Given the description of an element on the screen output the (x, y) to click on. 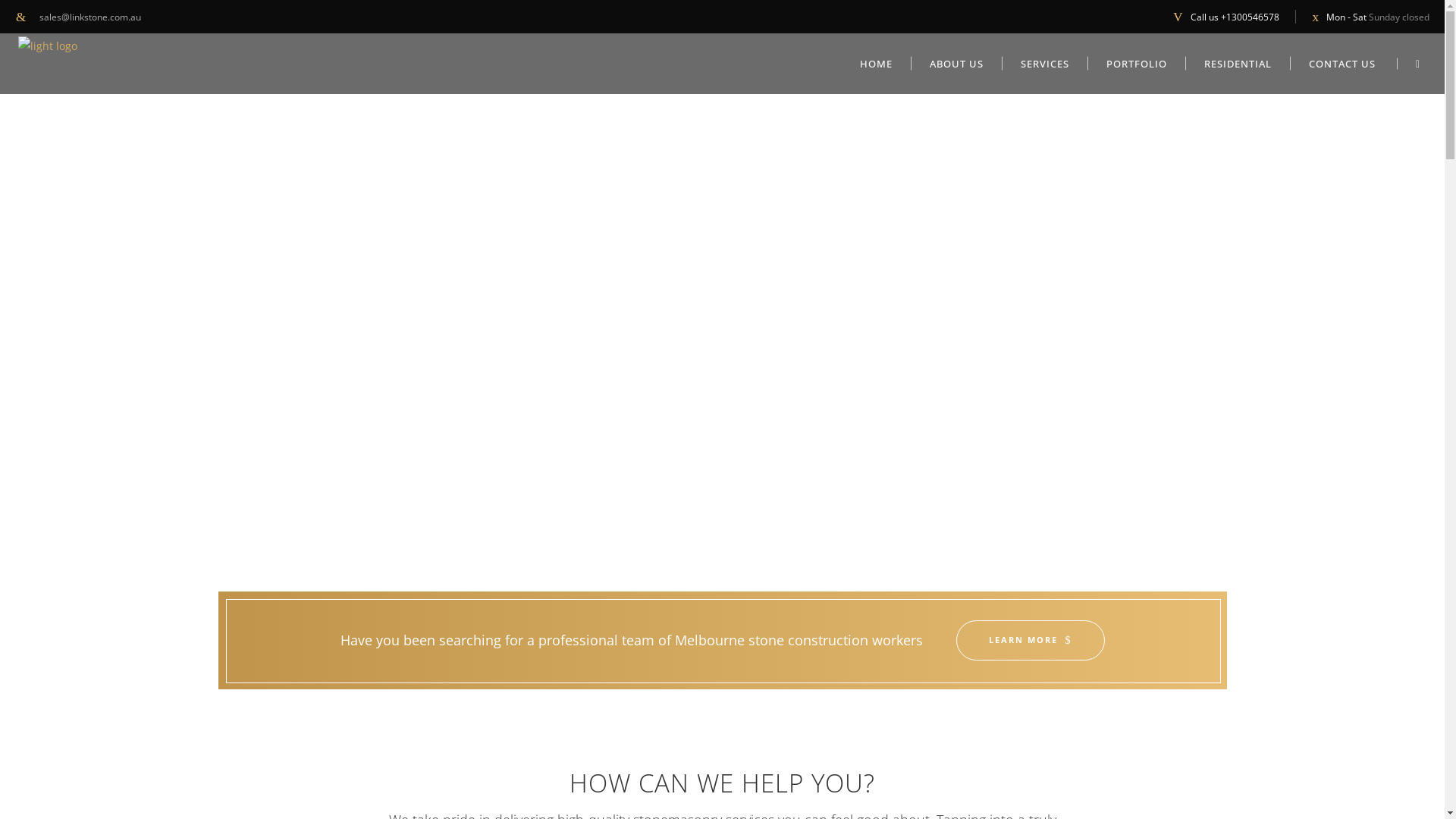
LEARN MORE Element type: text (1029, 640)
SERVICES Element type: text (1045, 63)
CONTACT US Element type: text (1341, 63)
PORTFOLIO Element type: text (1137, 63)
ABOUT US Element type: text (956, 63)
HOME Element type: text (876, 63)
RESIDENTIAL Element type: text (1238, 63)
